Given the description of an element on the screen output the (x, y) to click on. 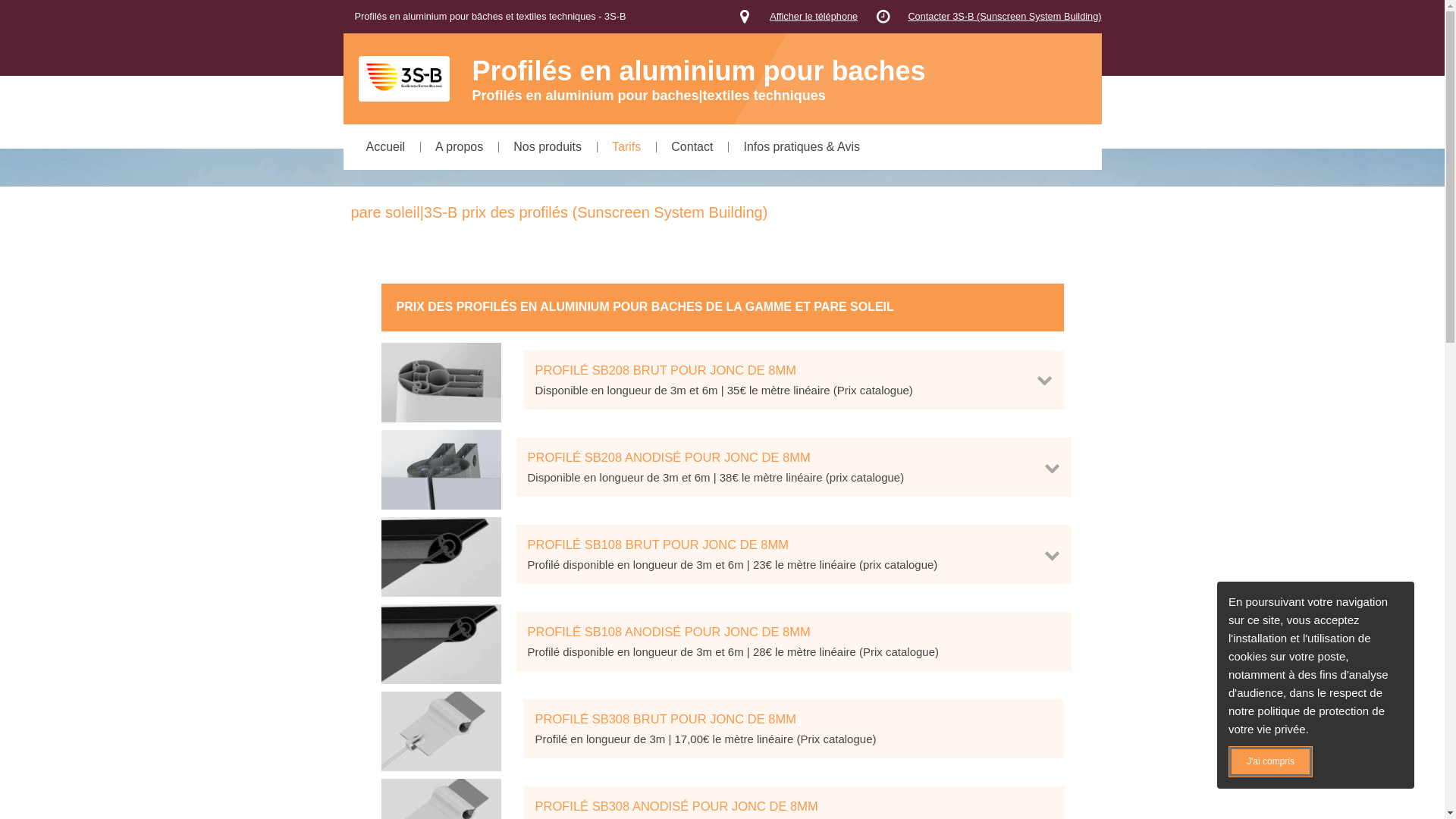
Contact Element type: text (691, 146)
Infos pratiques & Avis Element type: text (801, 146)
Accueil Element type: text (385, 146)
Nos produits Element type: text (547, 146)
A propos Element type: text (459, 146)
Tarifs Element type: text (625, 146)
J'ai compris Element type: text (1270, 761)
Contacter 3S-B (Sunscreen System Building) Element type: text (1004, 15)
